Given the description of an element on the screen output the (x, y) to click on. 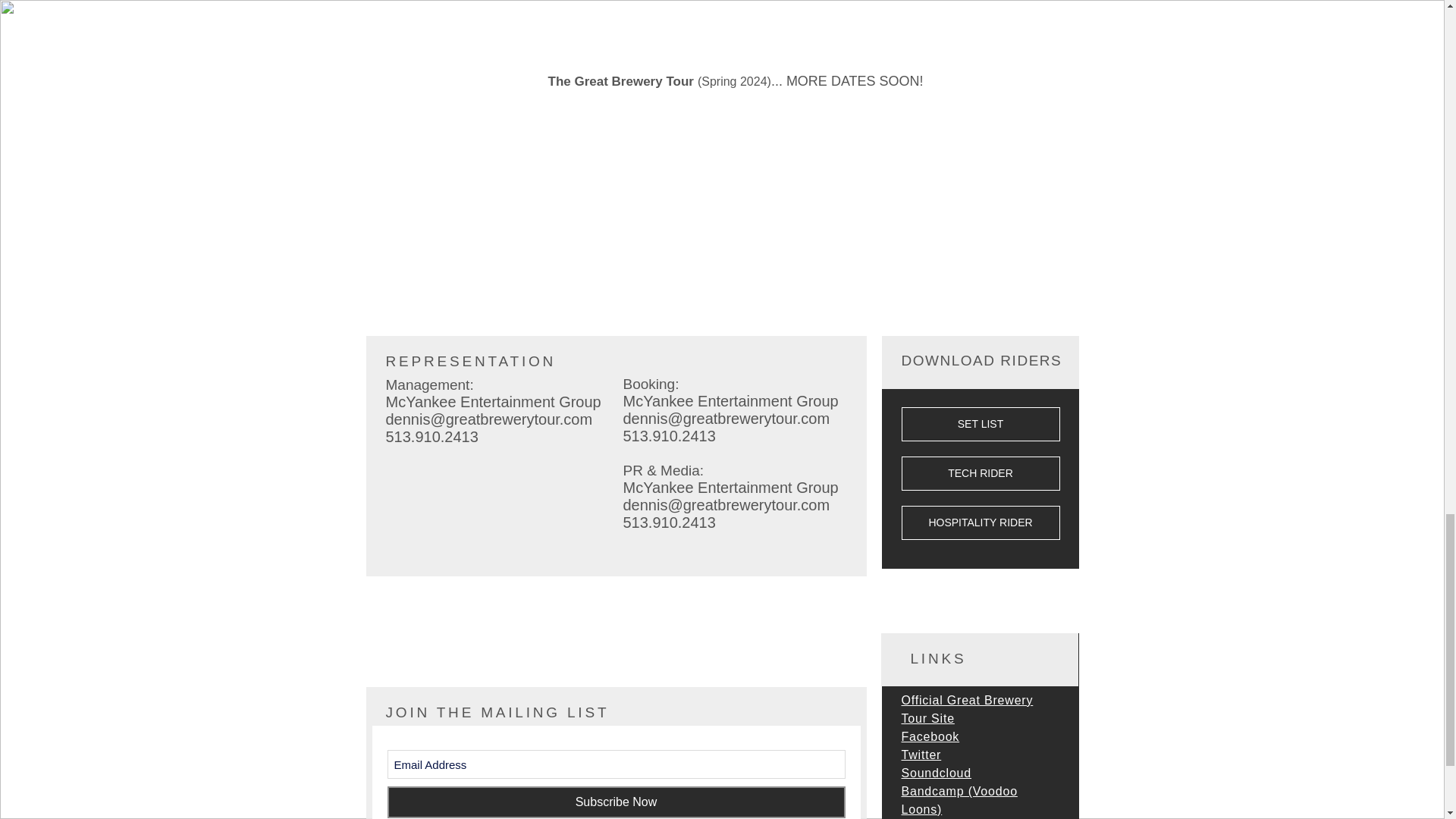
SET LIST (980, 424)
Subscribe Now (615, 802)
Facebook (930, 736)
Twitter (920, 754)
External YouTube (615, 13)
Official Great Brewery Tour Site (966, 708)
Soundcloud (936, 772)
